Given the description of an element on the screen output the (x, y) to click on. 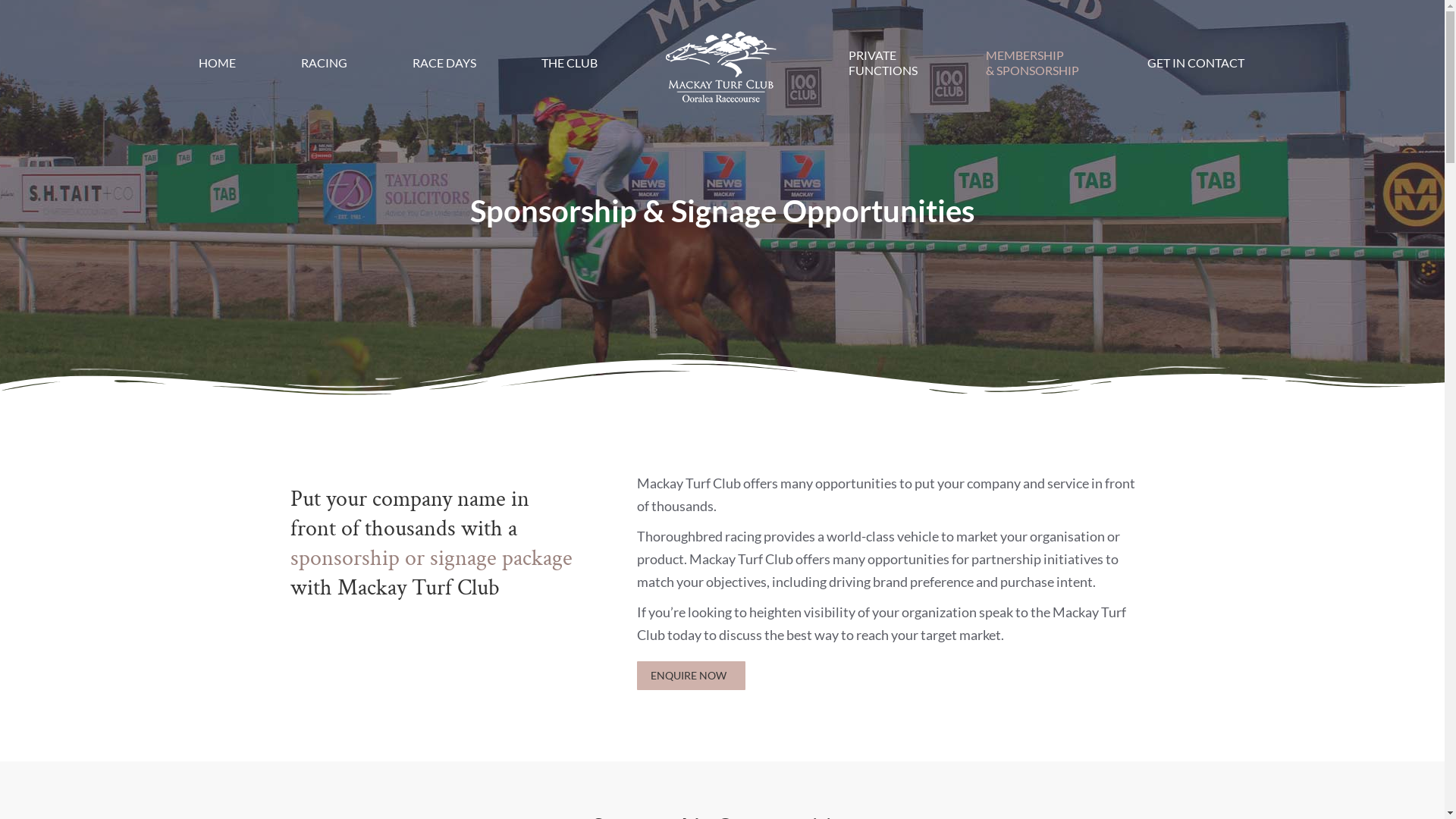
GET IN CONTACT Element type: text (1195, 62)
PRIVATE
FUNCTIONS Element type: text (883, 62)
MEMBERSHIP
& SPONSORSHIP Element type: text (1032, 62)
THE CLUB Element type: text (569, 62)
RACING Element type: text (324, 62)
ENQUIRE NOW Element type: text (691, 675)
RACE DAYS Element type: text (444, 62)
HOME Element type: text (216, 62)
